Given the description of an element on the screen output the (x, y) to click on. 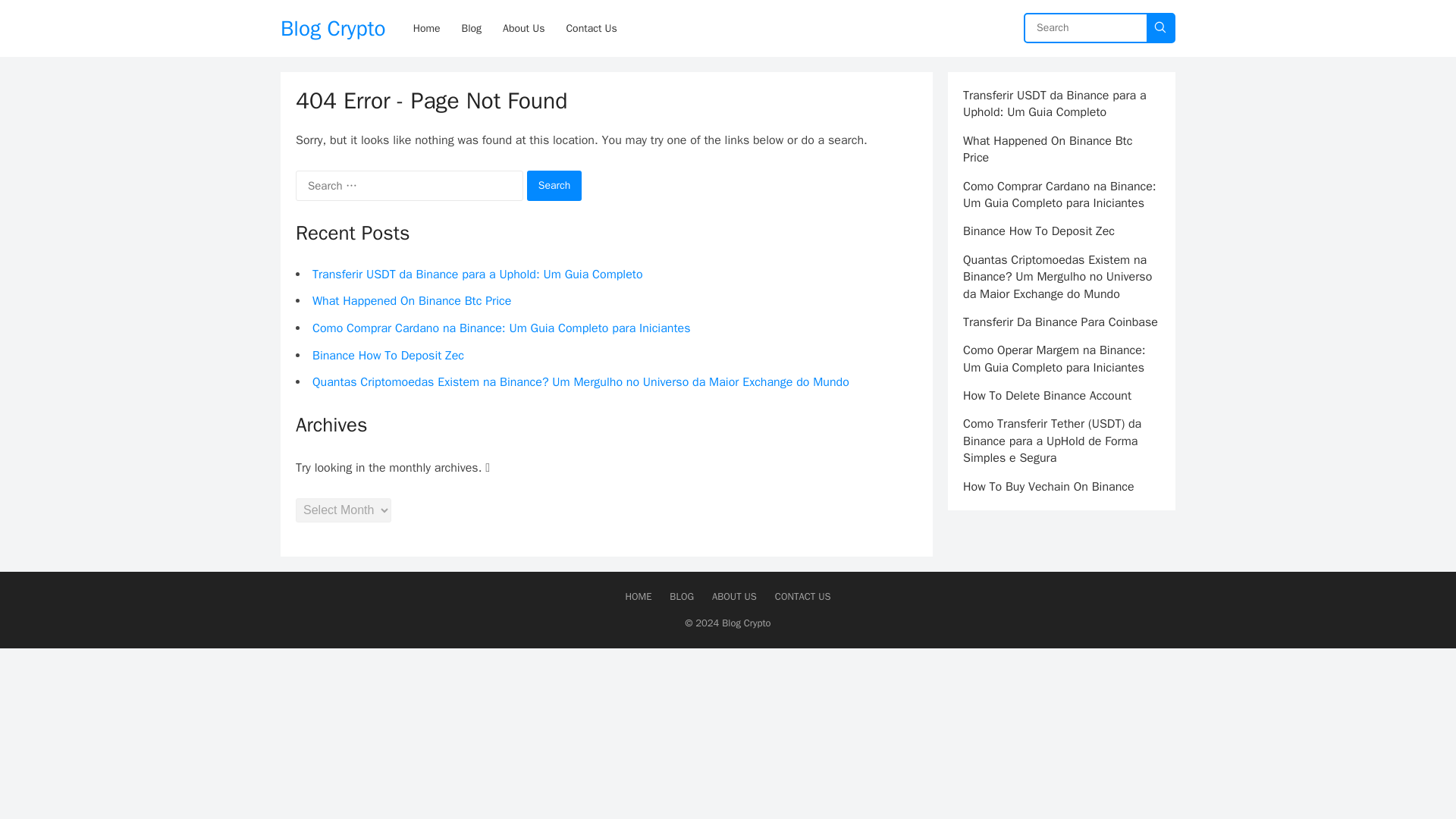
About Us (523, 28)
Transferir USDT da Binance para a Uphold: Um Guia Completo (478, 273)
What Happened On Binance Btc Price (412, 300)
How To Buy Vechain On Binance (1048, 486)
Search (554, 185)
Blog Crypto (333, 28)
Search (554, 185)
What Happened On Binance Btc Price (1047, 149)
